Given the description of an element on the screen output the (x, y) to click on. 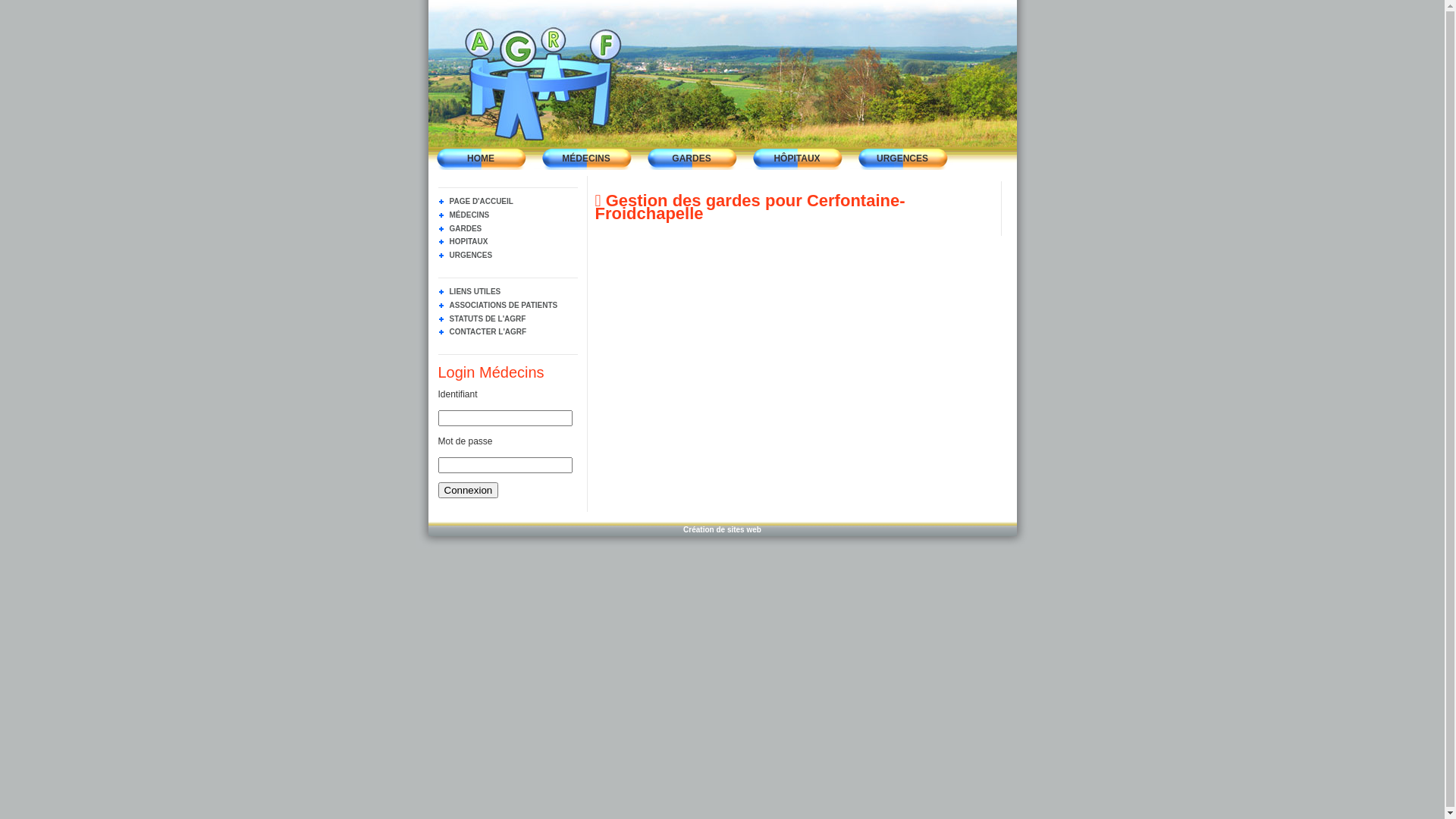
LIENS UTILES Element type: text (469, 291)
PAGE D'ACCUEIL Element type: text (475, 201)
GARDES Element type: text (690, 158)
Envoyer Element type: hover (468, 490)
spacer Element type: hover (1022, 533)
spacer Element type: hover (506, 511)
HOME Element type: text (480, 158)
spacer Element type: hover (1000, 181)
CONTACTER L'AGRF Element type: text (482, 331)
STATUTS DE L'AGRF Element type: text (482, 318)
spacer Element type: hover (421, 533)
GARDES Element type: text (460, 228)
spacer Element type: hover (421, 258)
spacer Element type: hover (586, 175)
URGENCES Element type: text (465, 255)
HOPITAUX Element type: text (463, 241)
Connexion Element type: text (468, 490)
ASSOCIATIONS DE PATIENTS Element type: text (498, 305)
URGENCES Element type: text (901, 158)
spacer Element type: hover (1022, 258)
